Given the description of an element on the screen output the (x, y) to click on. 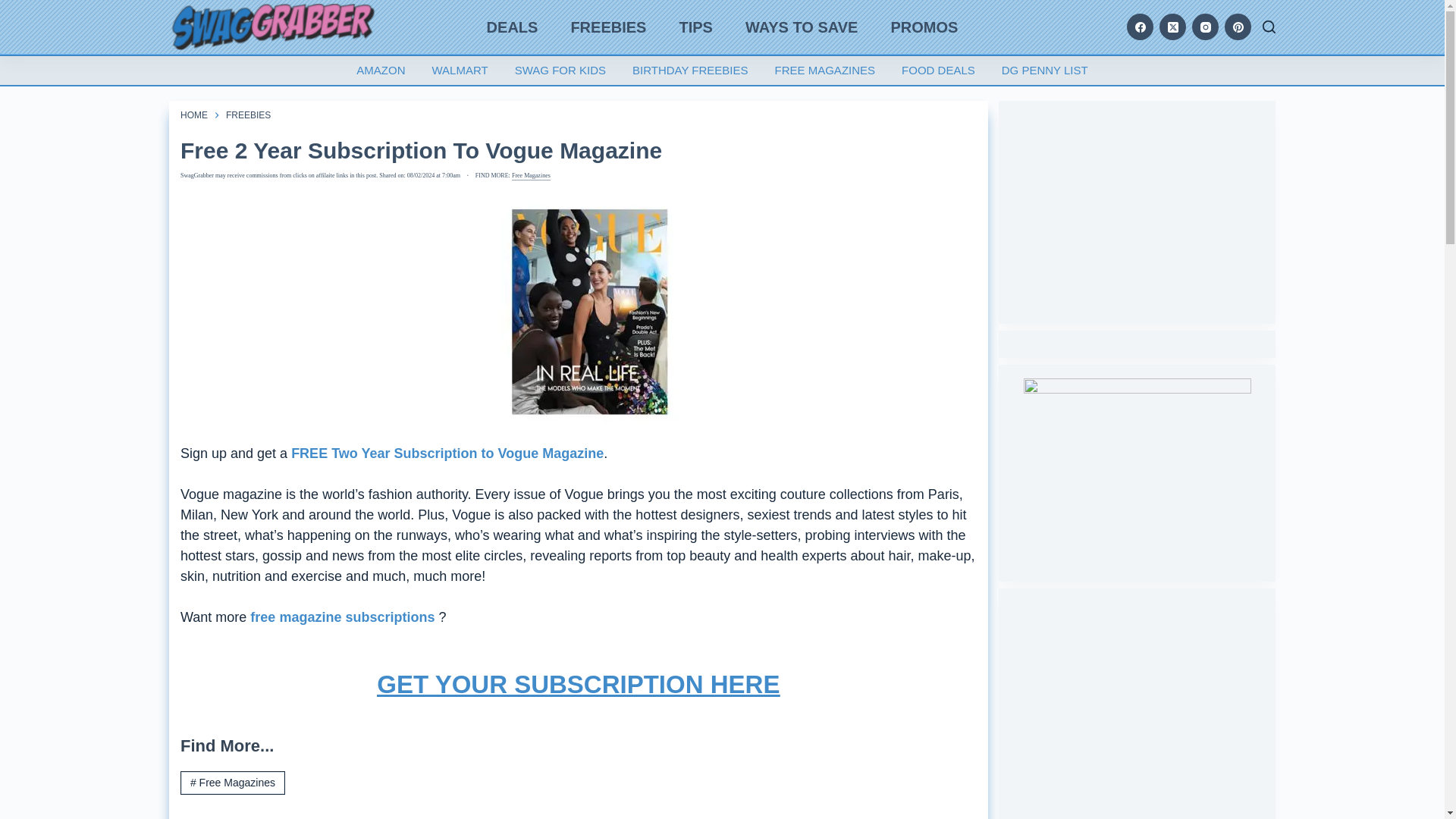
PROMOS (924, 27)
Free Magazines (531, 175)
SWAG FOR KIDS (559, 70)
GET YOUR SUBSCRIPTION HERE (775, 686)
FREE Two Year Subscription to Vogue Magazine (447, 453)
BIRTHDAY FREEBIES (689, 70)
FOOD DEALS (938, 70)
free magazine subscriptions (344, 616)
Free 2 Year Subscription To Vogue Magazine (578, 150)
FREE MAGAZINES (824, 70)
WAYS TO SAVE (802, 27)
Skip to content (15, 7)
DEALS (512, 27)
WALMART (459, 70)
DG PENNY LIST (1044, 70)
